Given the description of an element on the screen output the (x, y) to click on. 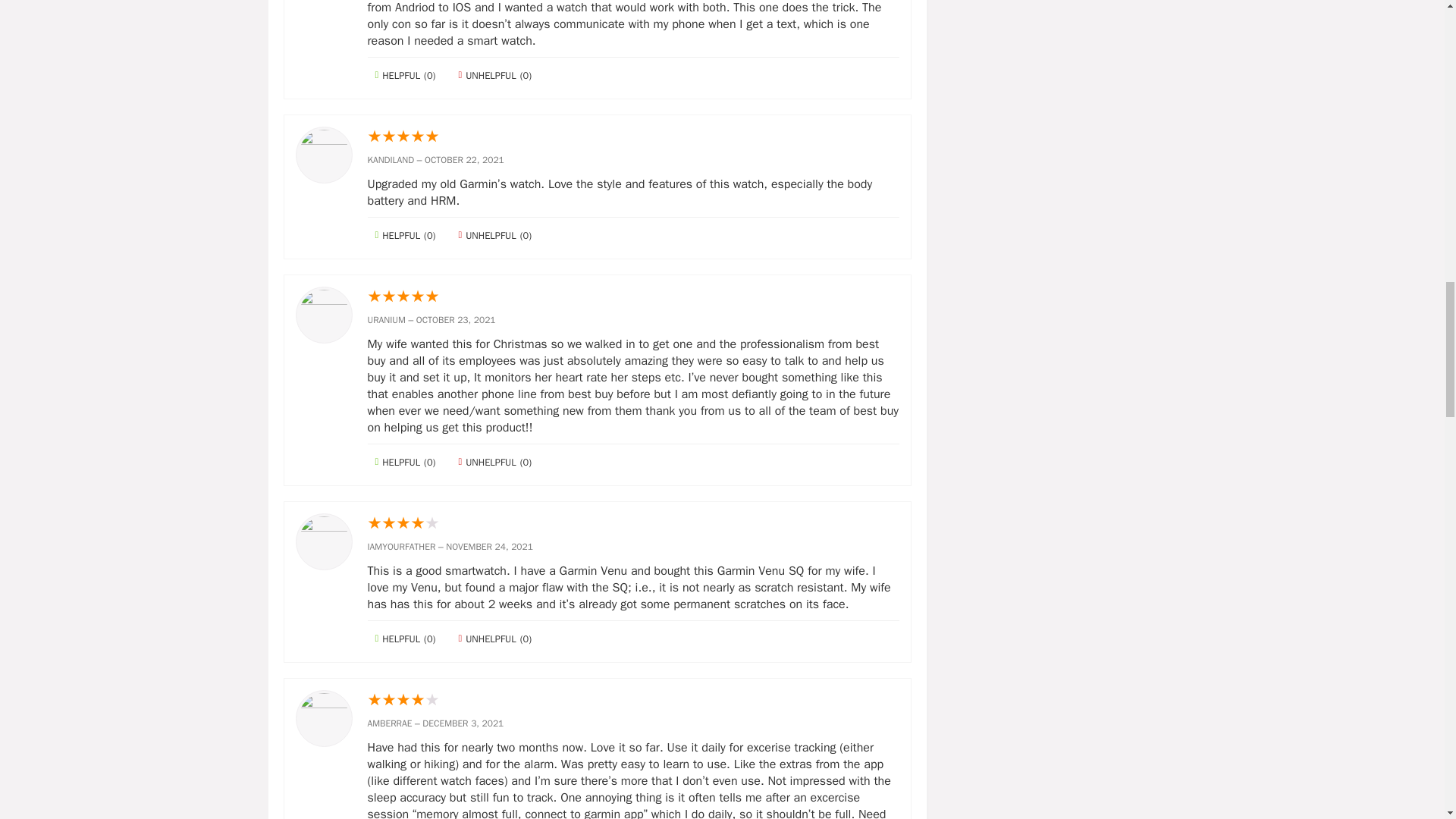
Rated 5 out of 5 (632, 296)
Rated 5 out of 5 (632, 137)
